Given the description of an element on the screen output the (x, y) to click on. 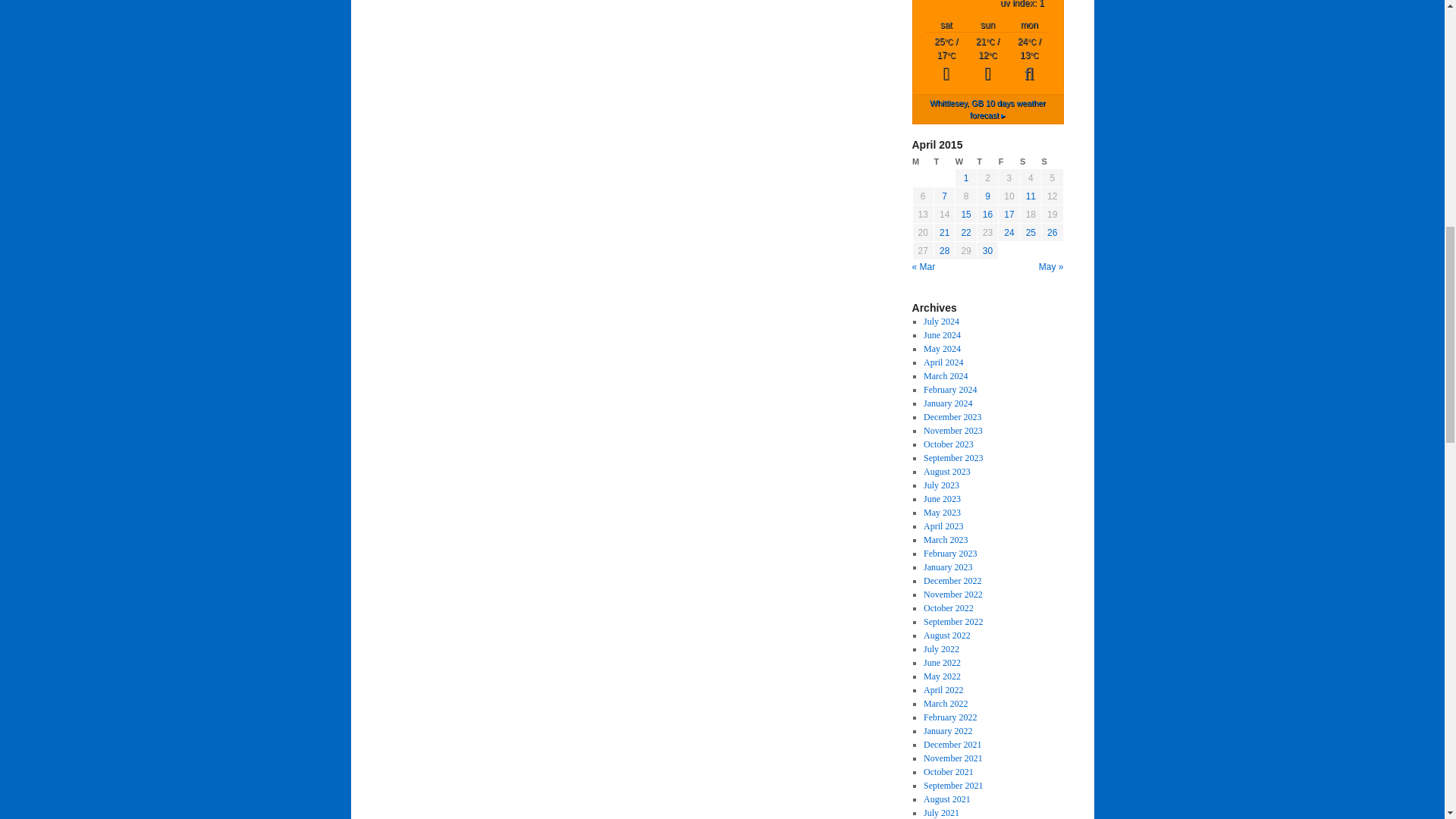
July 2024 (941, 321)
21 (944, 232)
Thursday (986, 161)
22 (965, 232)
11 (1030, 195)
Monday (922, 161)
Wednesday (965, 161)
16 (987, 214)
17 (1008, 214)
28 (944, 250)
15 (965, 214)
30 (987, 250)
24 (1008, 232)
Tuesday (944, 161)
Whittlesey, GB - 10 days weather forecast (987, 108)
